Given the description of an element on the screen output the (x, y) to click on. 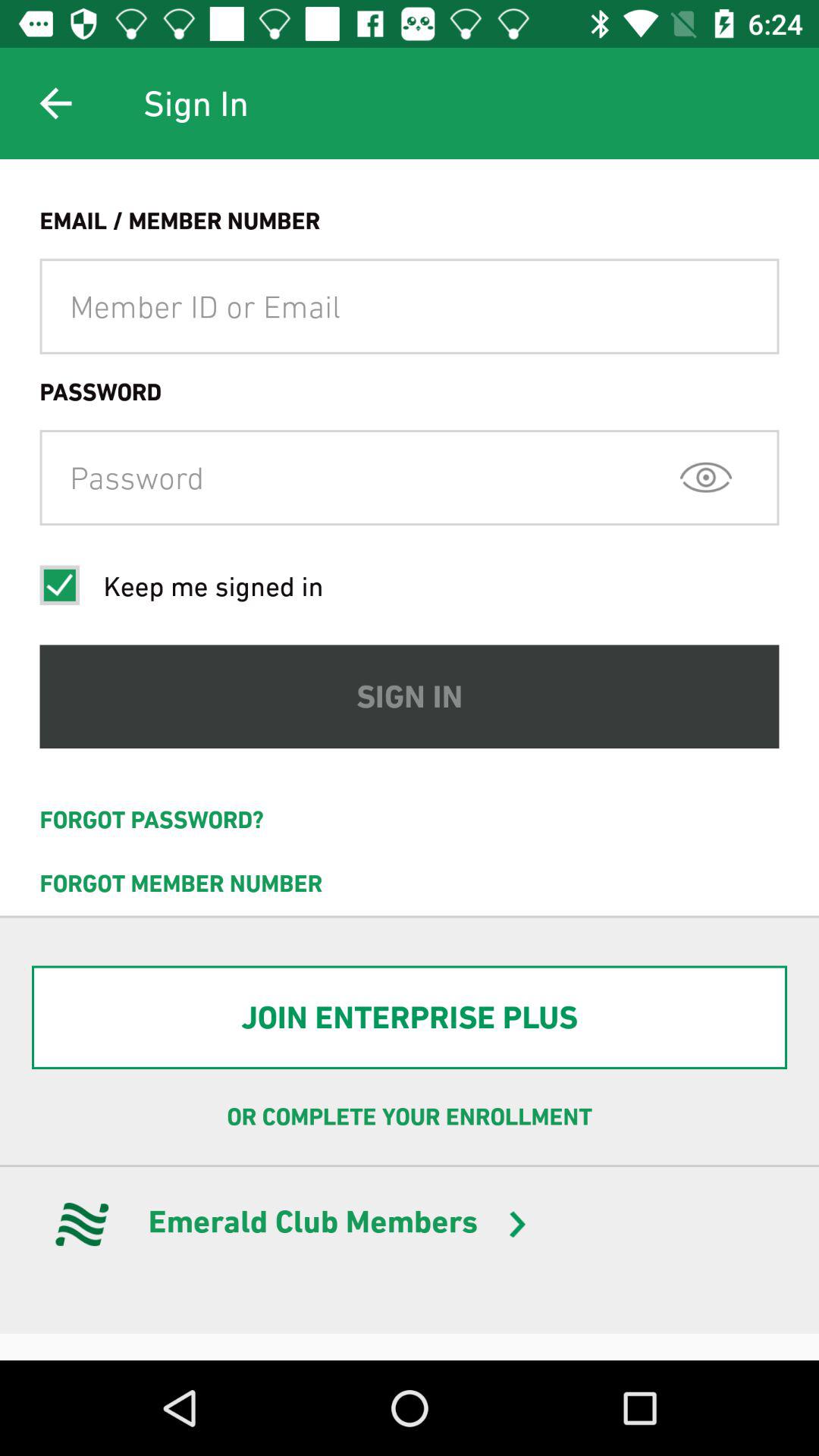
display password text (705, 477)
